Given the description of an element on the screen output the (x, y) to click on. 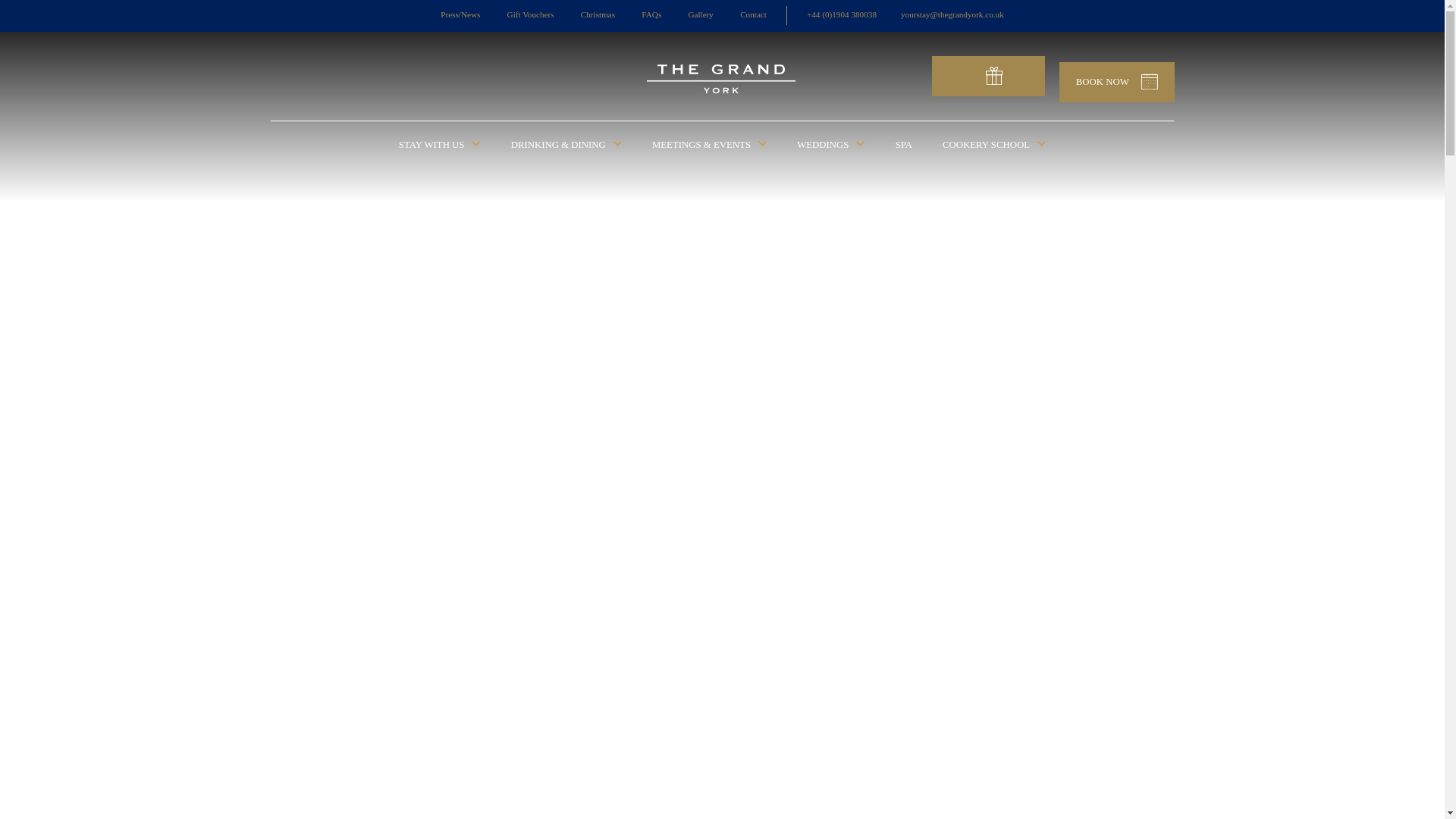
STAY WITH US (439, 144)
Gallery (700, 15)
BOOK NOW (1116, 81)
Gift Vouchers (530, 15)
Christmas (597, 15)
Contact (753, 15)
FAQs (651, 15)
